Given the description of an element on the screen output the (x, y) to click on. 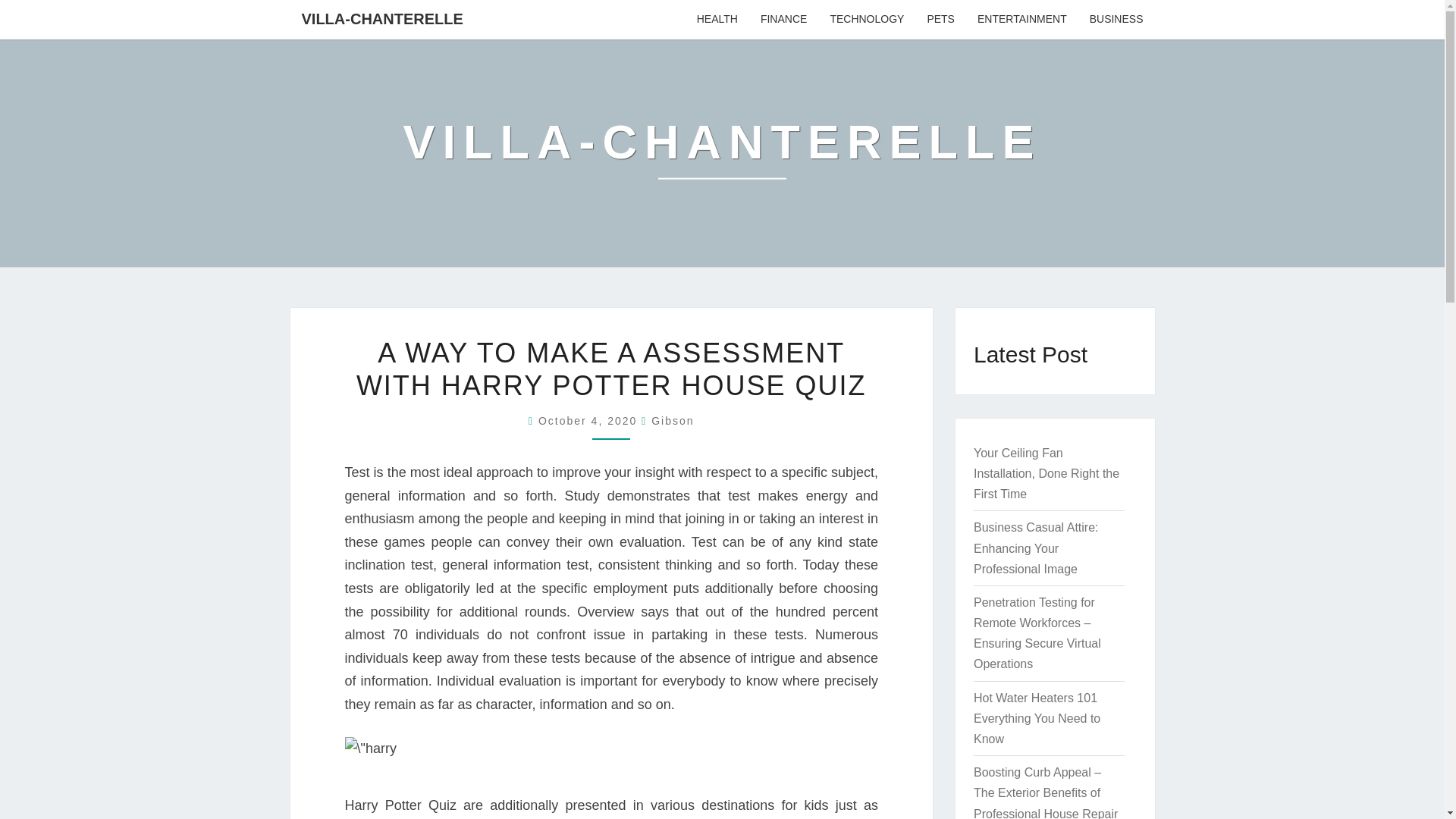
Your Ceiling Fan Installation, Done Right the First Time (1046, 473)
villa-chanterelle (722, 152)
October 4, 2020 (590, 420)
11:36 am (590, 420)
ENTERTAINMENT (1022, 19)
Hot Water Heaters 101 Everything You Need to Know (1037, 718)
TECHNOLOGY (866, 19)
VILLA-CHANTERELLE (722, 152)
BUSINESS (1116, 19)
PETS (940, 19)
VILLA-CHANTERELLE (381, 18)
Business Casual Attire: Enhancing Your Professional Image (1036, 547)
View all posts by Gibson (672, 420)
HEALTH (717, 19)
Gibson (672, 420)
